Given the description of an element on the screen output the (x, y) to click on. 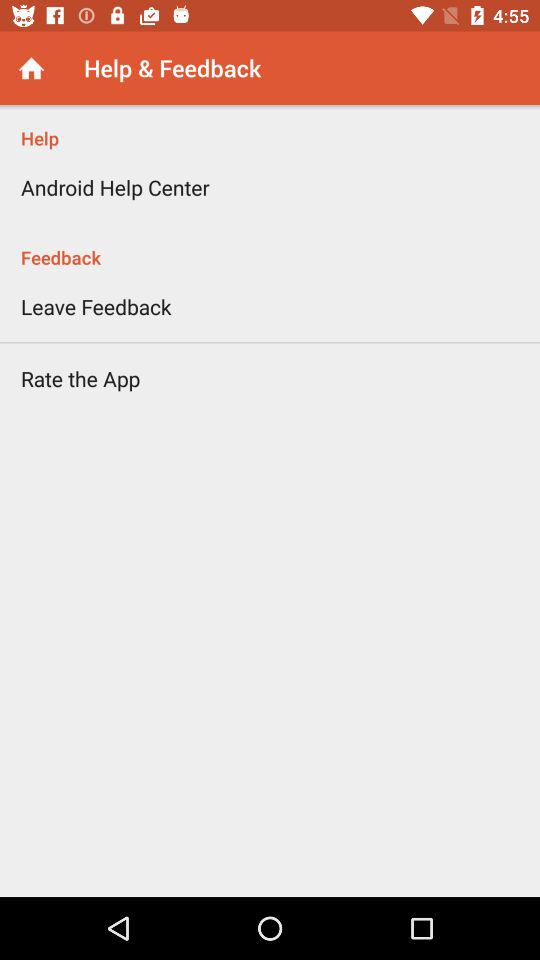
turn off the icon below feedback (96, 306)
